Given the description of an element on the screen output the (x, y) to click on. 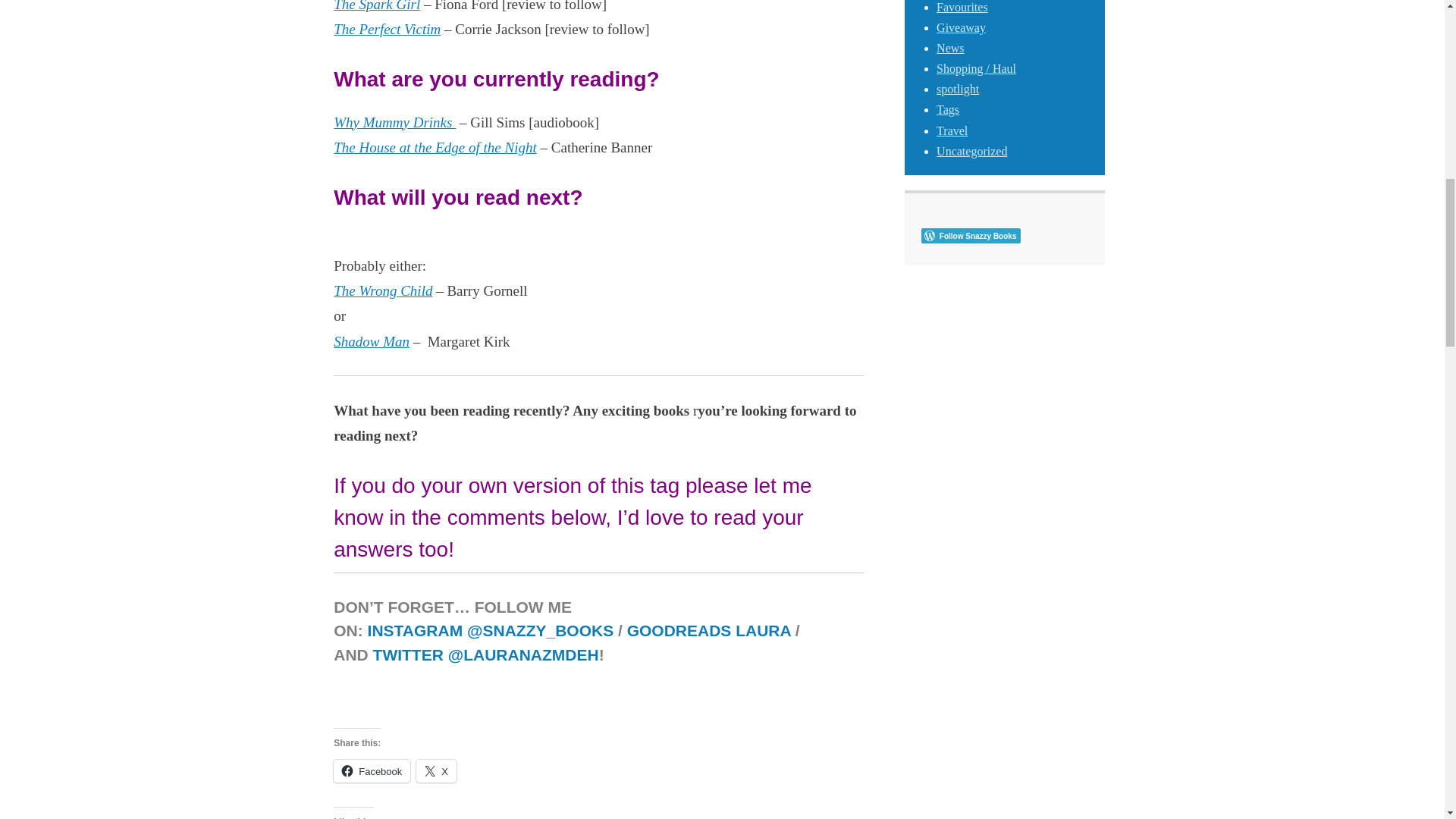
Why Mummy Drinks  (394, 122)
X (436, 771)
INSTAGRAM (415, 630)
Facebook (371, 771)
TWITTER  (410, 654)
Click to share on X (436, 771)
LAURA (762, 630)
GOODREADS  (681, 630)
Click to share on Facebook (371, 771)
The House at the Edge of the Night (435, 147)
The Perfect Victim (387, 28)
The Spark Girl (376, 6)
Shadow Man (371, 341)
Follow Button (1004, 235)
The Wrong Child (382, 290)
